Given the description of an element on the screen output the (x, y) to click on. 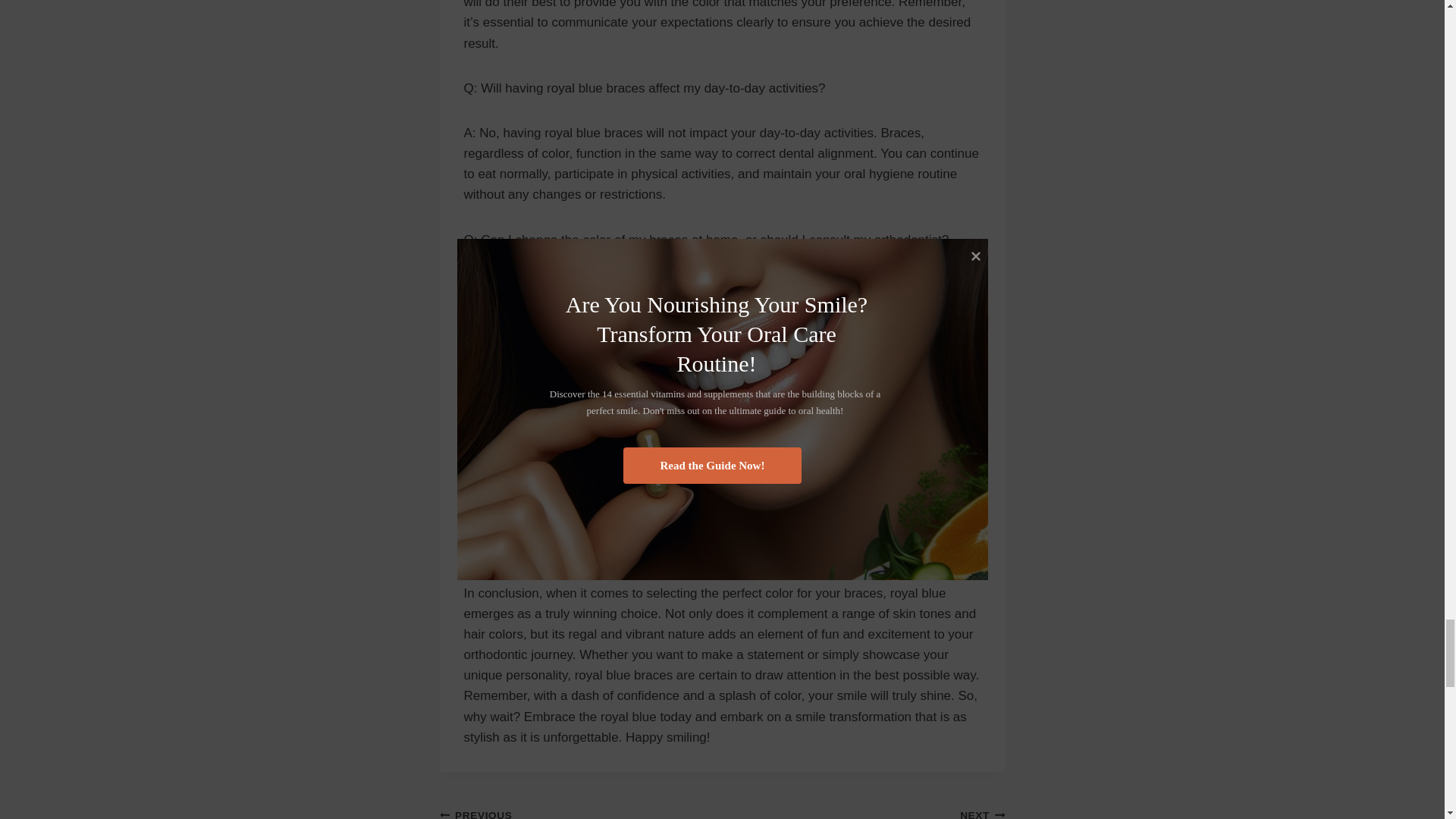
suit individual preferences (711, 446)
10 Reasons Why To Pick Teal Color Braces in 2023 (711, 446)
